Given the description of an element on the screen output the (x, y) to click on. 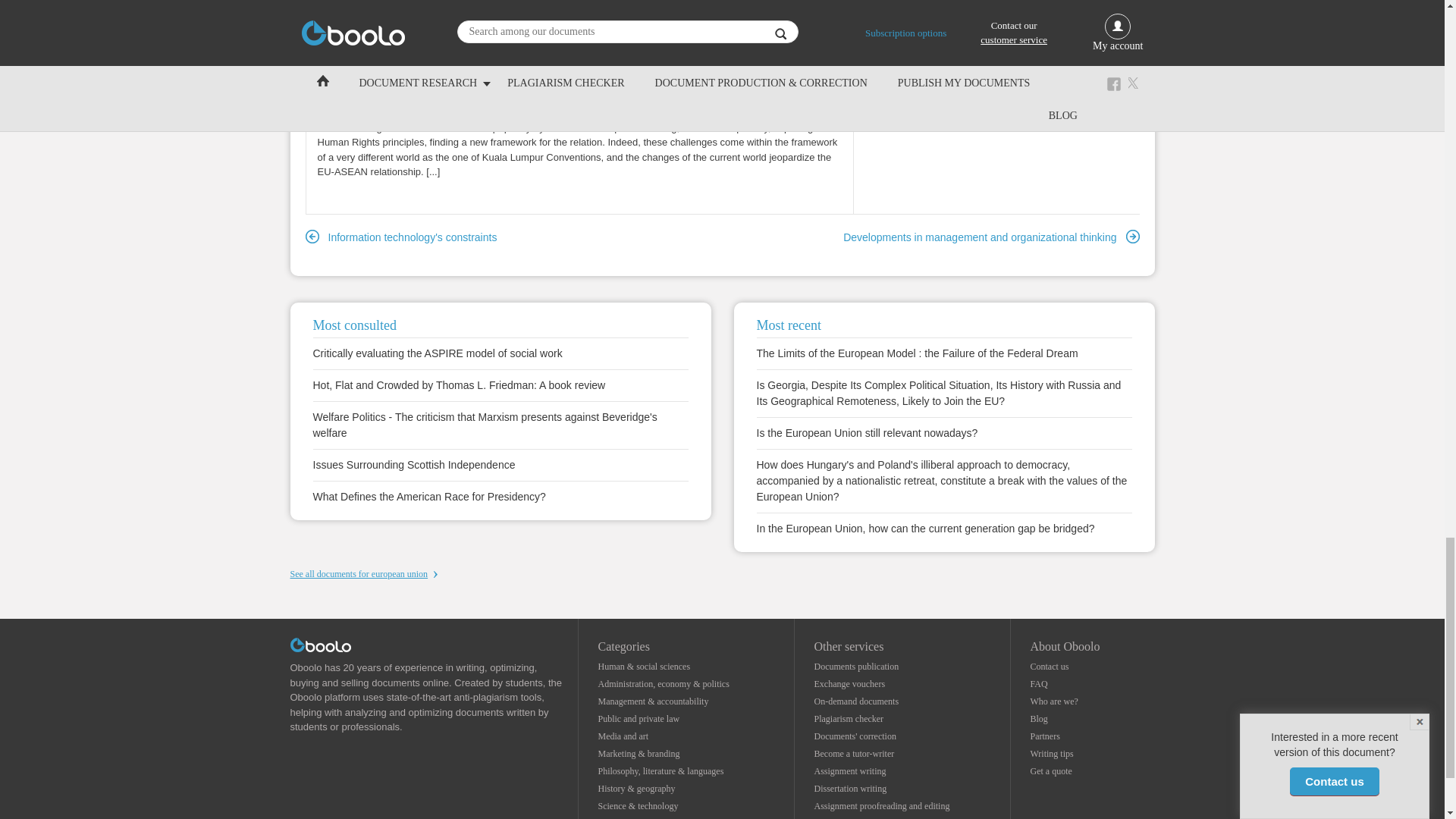
What Defines the American Race for Presidency? (428, 496)
Issues Surrounding Scottish Independence (414, 464)
Developments in management and organizational thinking (990, 237)
Hot, Flat and Crowded by Thomas L. Friedman: A book review (459, 385)
Is the European Union still relevant nowadays? (867, 432)
Information technology's constraints (400, 237)
